Given the description of an element on the screen output the (x, y) to click on. 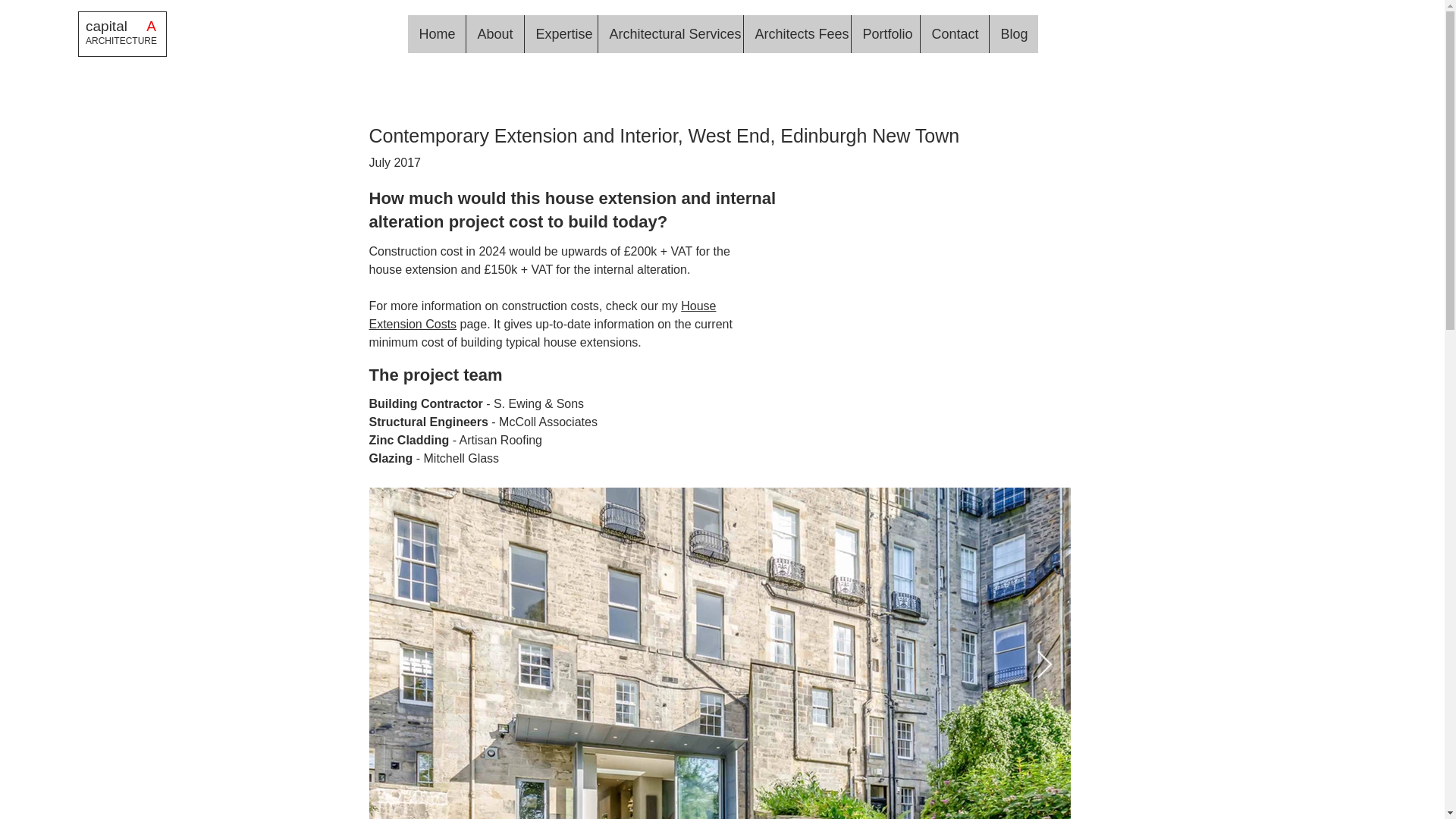
Expertise (559, 34)
ARCHITECTURE (121, 40)
Architectural Services (669, 34)
Home (436, 34)
House Extension Costs (542, 314)
Architects Fees (796, 34)
The project team (435, 374)
Blog (1013, 34)
capital     A  (121, 26)
Portfolio (885, 34)
About (494, 34)
Contact (953, 34)
